Given the description of an element on the screen output the (x, y) to click on. 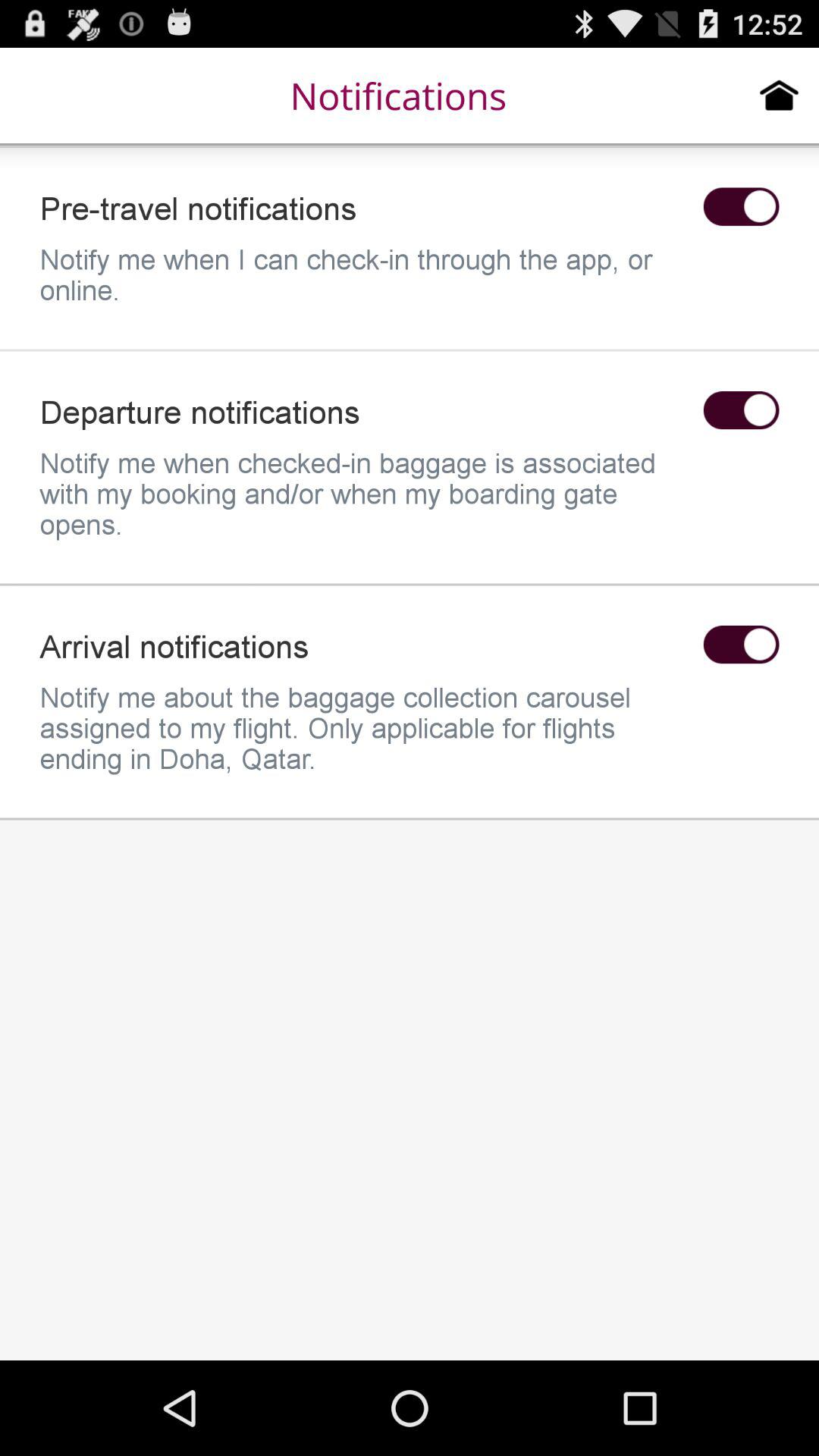
disable pre-travel notifications (741, 206)
